Given the description of an element on the screen output the (x, y) to click on. 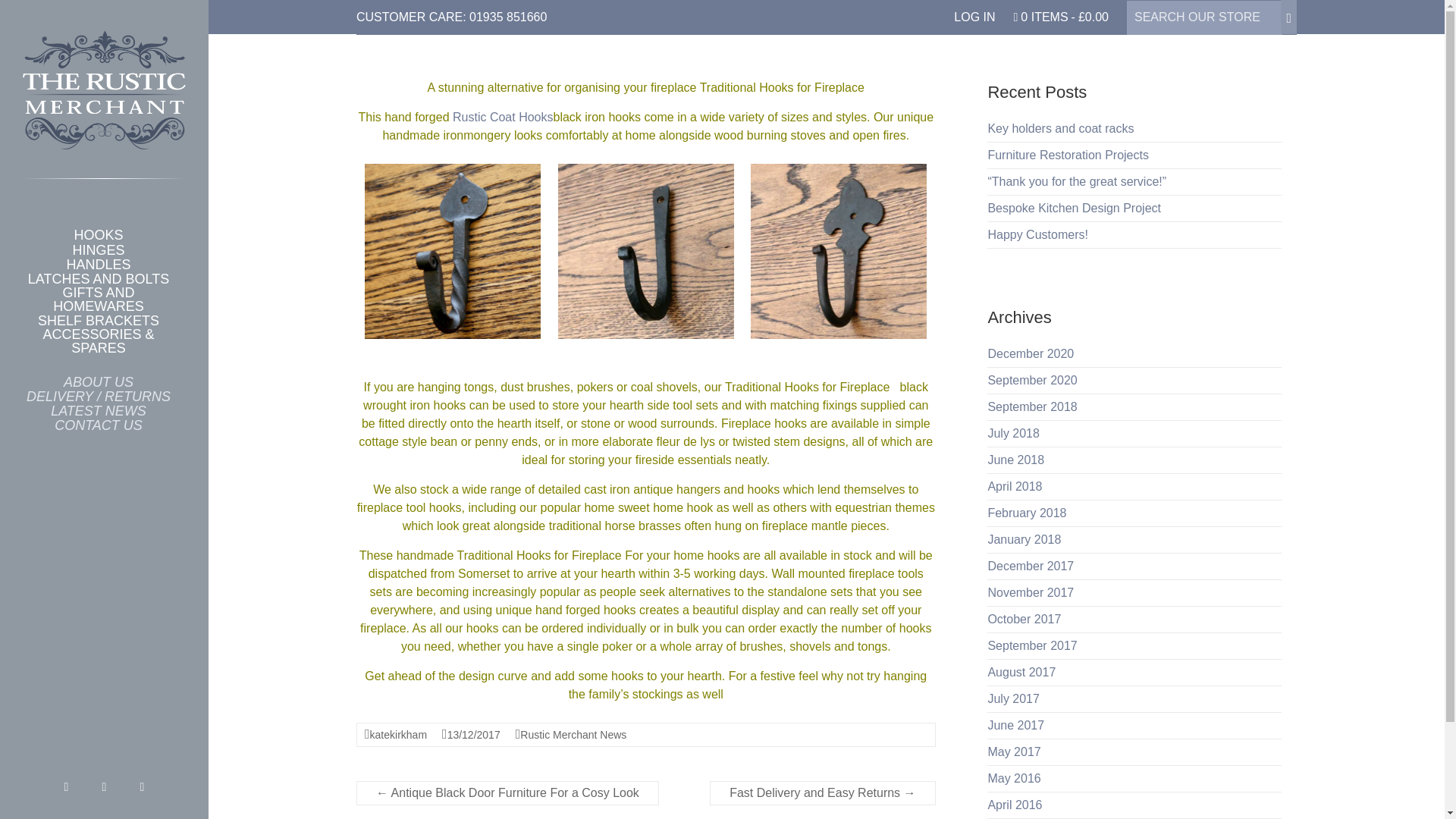
LOG IN (973, 11)
LATEST NEWS (98, 410)
Rustic Merchant News (572, 734)
Happy Customers! (1037, 233)
September 2020 (1032, 379)
cast iron antique hangers and hooks (680, 489)
GIFTS AND HOMEWARES (98, 298)
hooks creates a beautiful display and can really set (740, 609)
SHELF BRACKETS (98, 319)
LATCHES AND BOLTS (98, 278)
Start shopping (1060, 11)
Furniture Restoration Projects (1067, 154)
katekirkham (397, 734)
HOOKS (98, 234)
December 2020 (1030, 353)
